Given the description of an element on the screen output the (x, y) to click on. 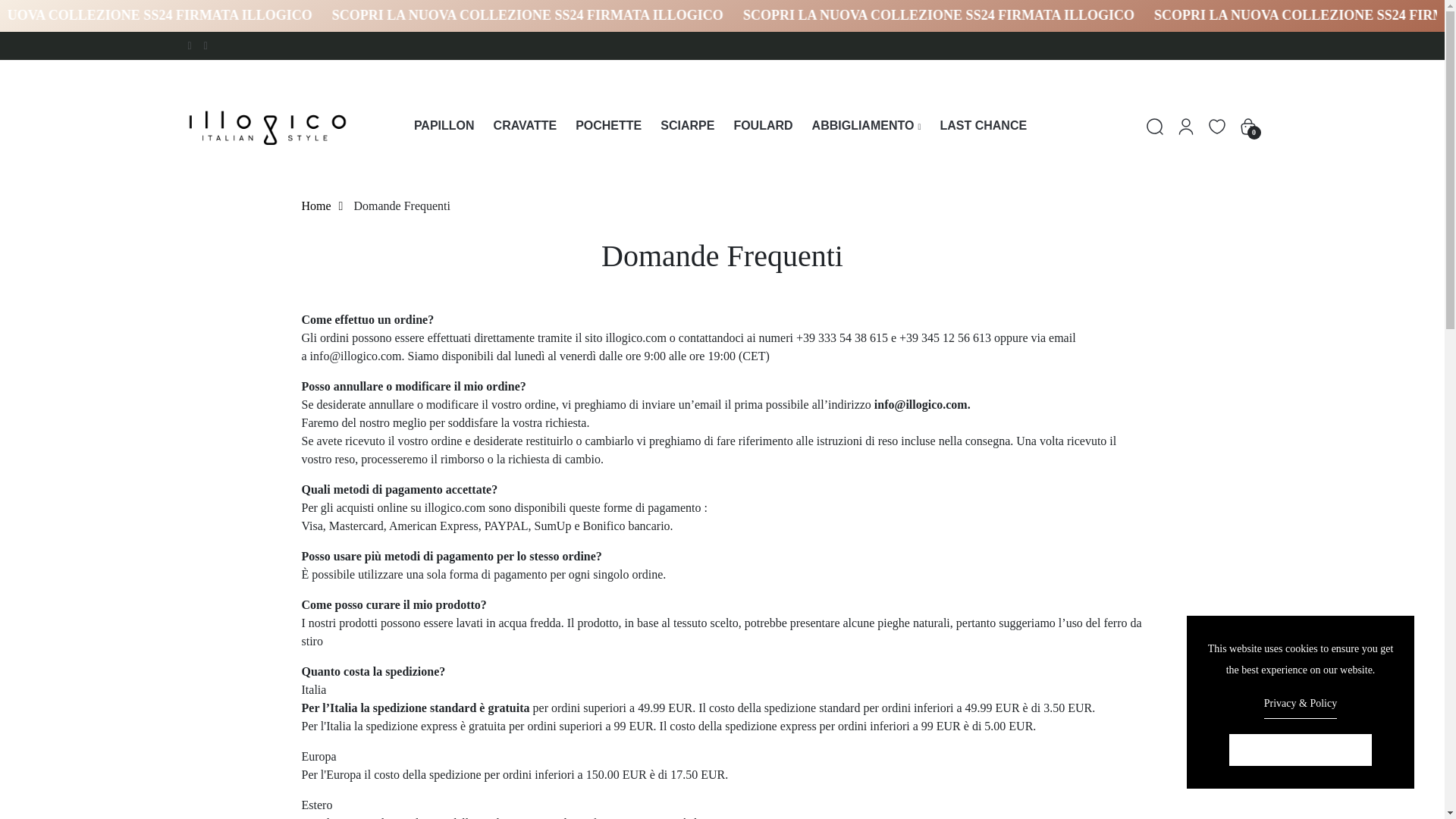
LAST CHANCE (982, 125)
0 (1248, 124)
FOULARD (762, 125)
ABBIGLIAMENTO (866, 126)
PAPILLON (443, 125)
SCIARPE (687, 125)
CRAVATTE (525, 125)
POCHETTE (608, 125)
